Given the description of an element on the screen output the (x, y) to click on. 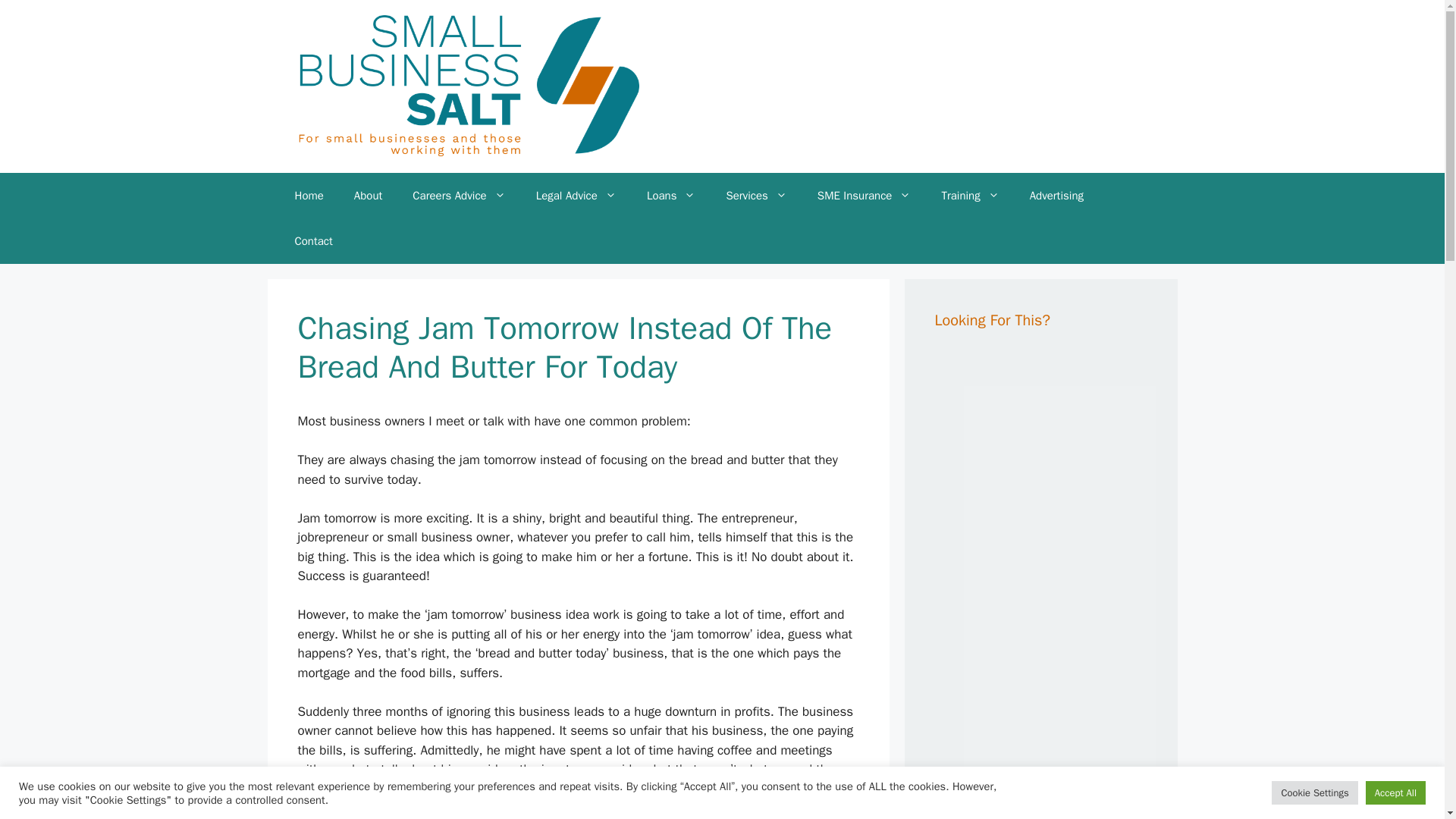
Careers Advice (458, 195)
Services (756, 195)
Legal Advice (576, 195)
Contact (313, 240)
Advertisement (1071, 722)
About (368, 195)
Loans (671, 195)
Training (969, 195)
Advertising (1056, 195)
SME Insurance (864, 195)
Home (308, 195)
